Given the description of an element on the screen output the (x, y) to click on. 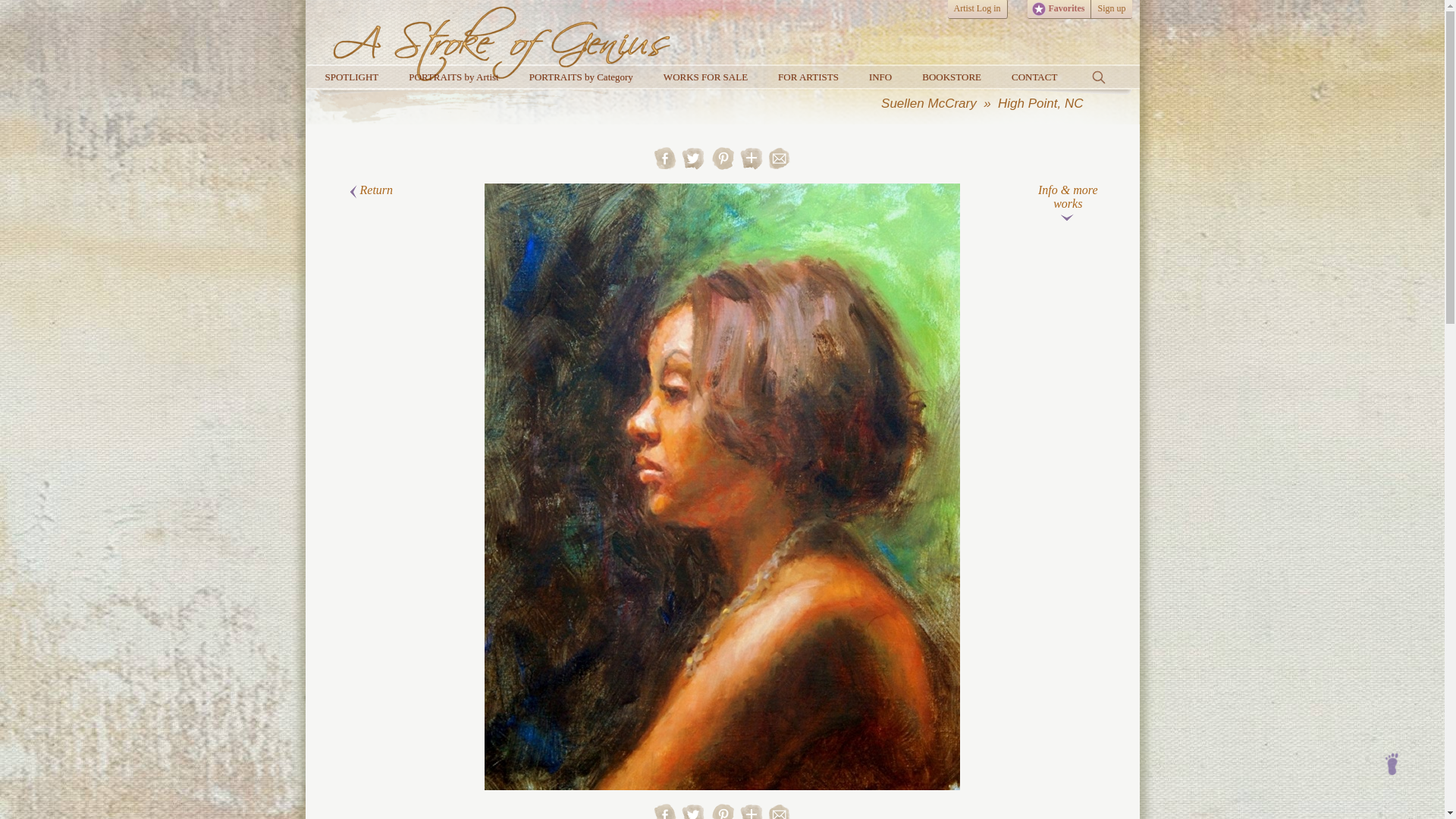
Pin it (723, 165)
SPOTLIGHT (350, 76)
Tweet (694, 165)
Sign up (1110, 9)
Artist Log in (977, 9)
Add to favorites (750, 165)
Your Favorite Portraits (1037, 8)
Favorites (1058, 9)
Add to favorites (750, 158)
Tweet (694, 818)
PORTRAITS by Category (580, 76)
Add to favorites (750, 811)
Share on Facebook (665, 818)
PORTRAITS by Artist (453, 76)
Pin it (723, 818)
